Given the description of an element on the screen output the (x, y) to click on. 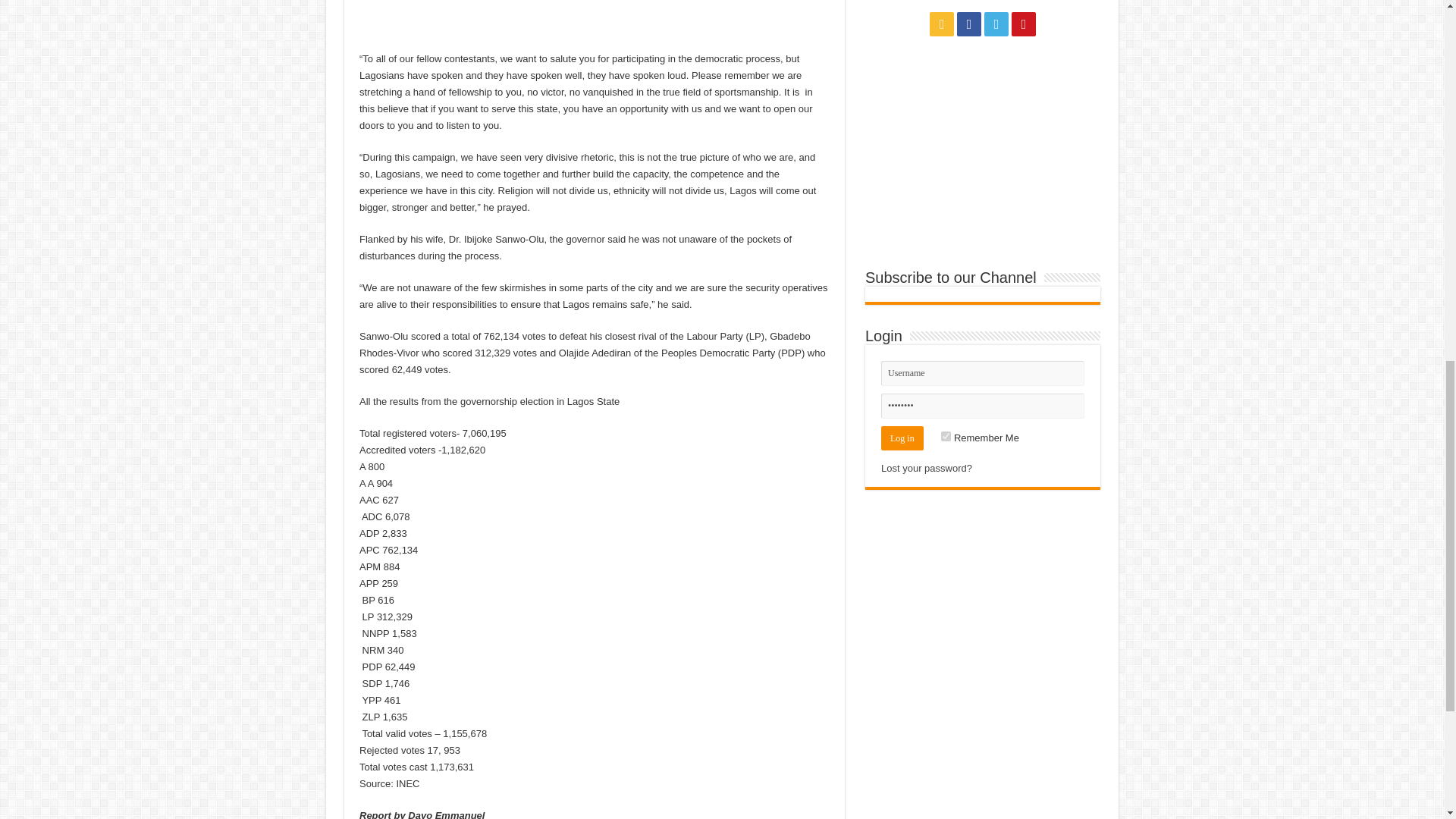
Password (982, 405)
Log in (901, 437)
Username (982, 373)
forever (945, 436)
